Given the description of an element on the screen output the (x, y) to click on. 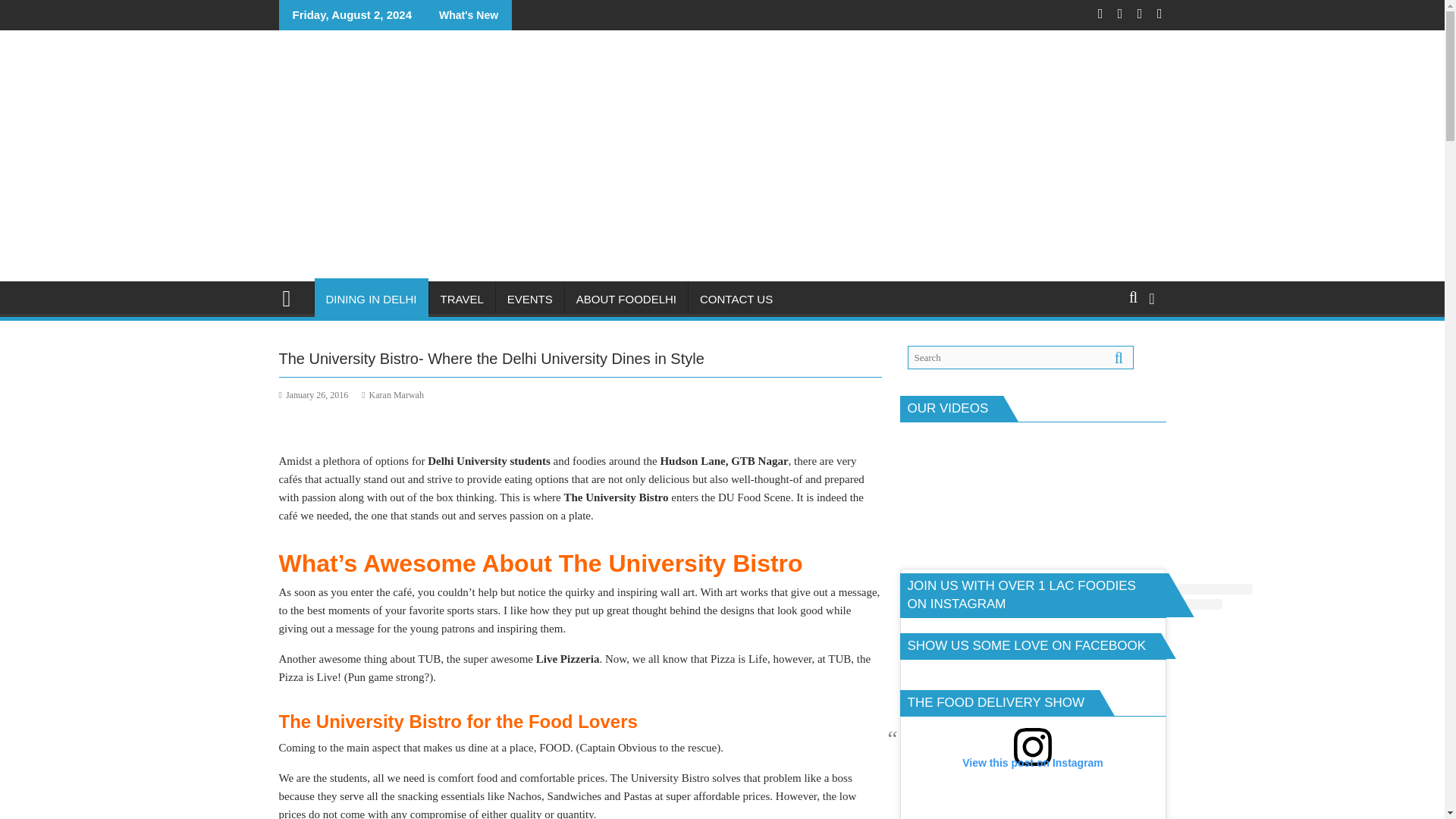
January 26, 2016 (314, 394)
EVENTS (530, 299)
Karan Marwah (392, 394)
ABOUT FOODELHI (625, 299)
TRAVEL (462, 299)
CONTACT US (736, 299)
FOODelhi- India's Own Food and Travel Blog (293, 296)
DINING IN DELHI (371, 299)
